Given the description of an element on the screen output the (x, y) to click on. 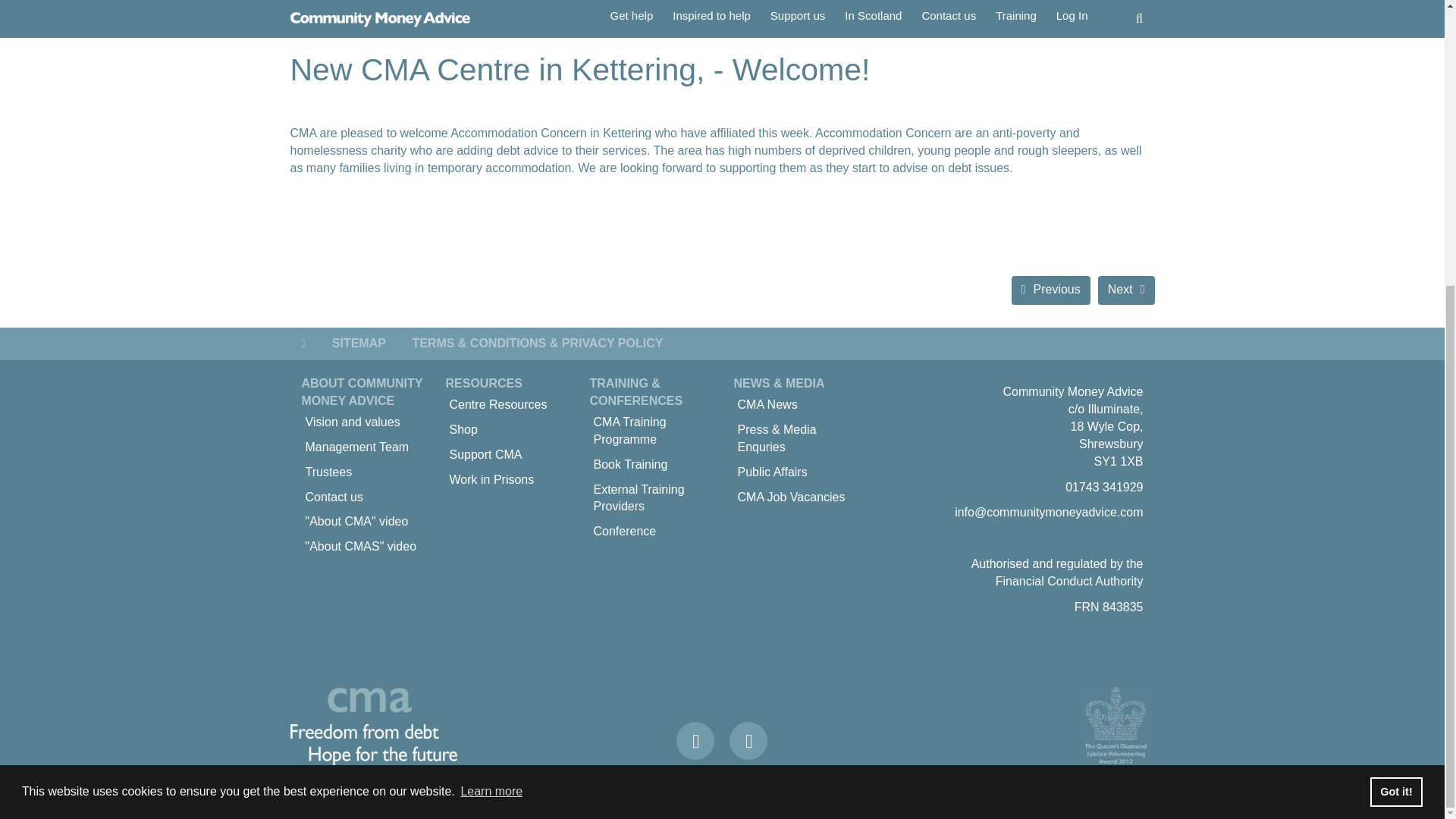
Next (1125, 290)
Conference (650, 531)
Trustees (362, 472)
ABOUT COMMUNITY MONEY ADVICE (362, 391)
RESOURCES (483, 382)
External Training Providers (650, 498)
Contact us (362, 497)
SITEMAP (358, 343)
Shop (506, 430)
Learn more (491, 360)
Facebook (695, 740)
"About CMA" video (362, 521)
Twitter (748, 740)
Book Training (650, 464)
Work in Prisons (506, 480)
